Given the description of an element on the screen output the (x, y) to click on. 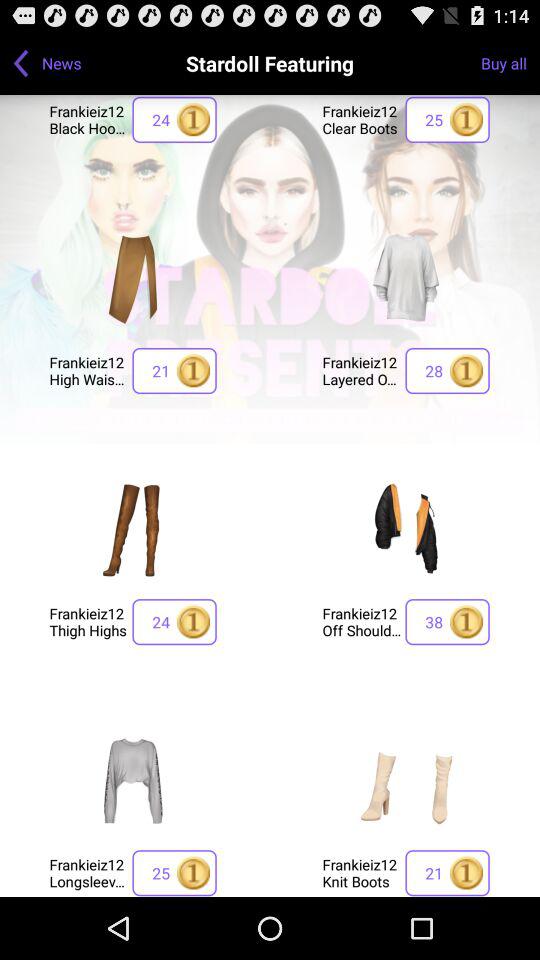
choose app next to the stardoll featuring item (510, 62)
